Given the description of an element on the screen output the (x, y) to click on. 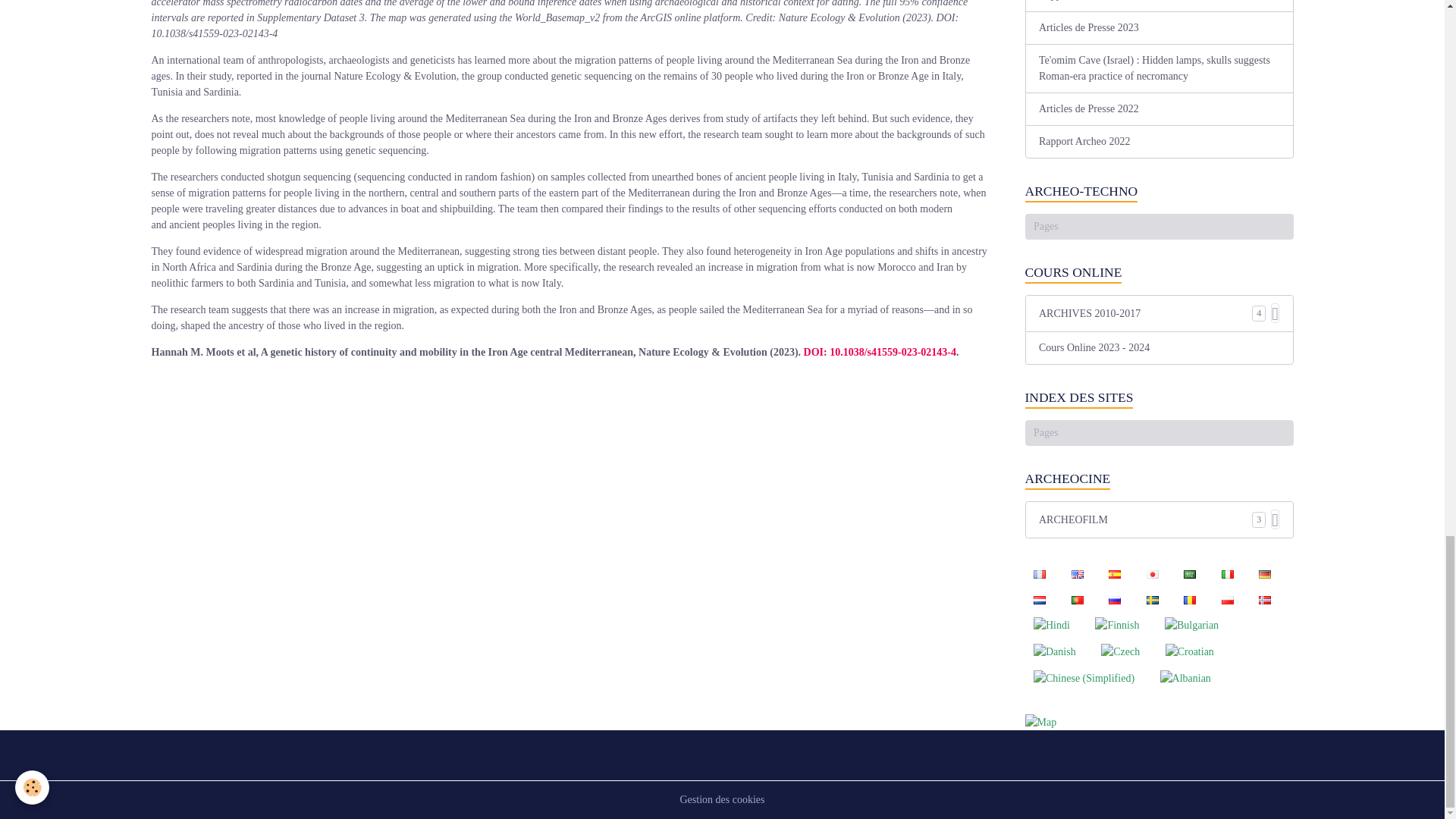
Portuguesa (1077, 598)
Norwegian (1264, 598)
Japanese (1152, 574)
Deutsch (1264, 574)
Danish (1054, 651)
Romanian (1189, 598)
Arabic (1189, 574)
Czech (1120, 651)
Finnish (1117, 624)
Italiano (1226, 574)
